Given the description of an element on the screen output the (x, y) to click on. 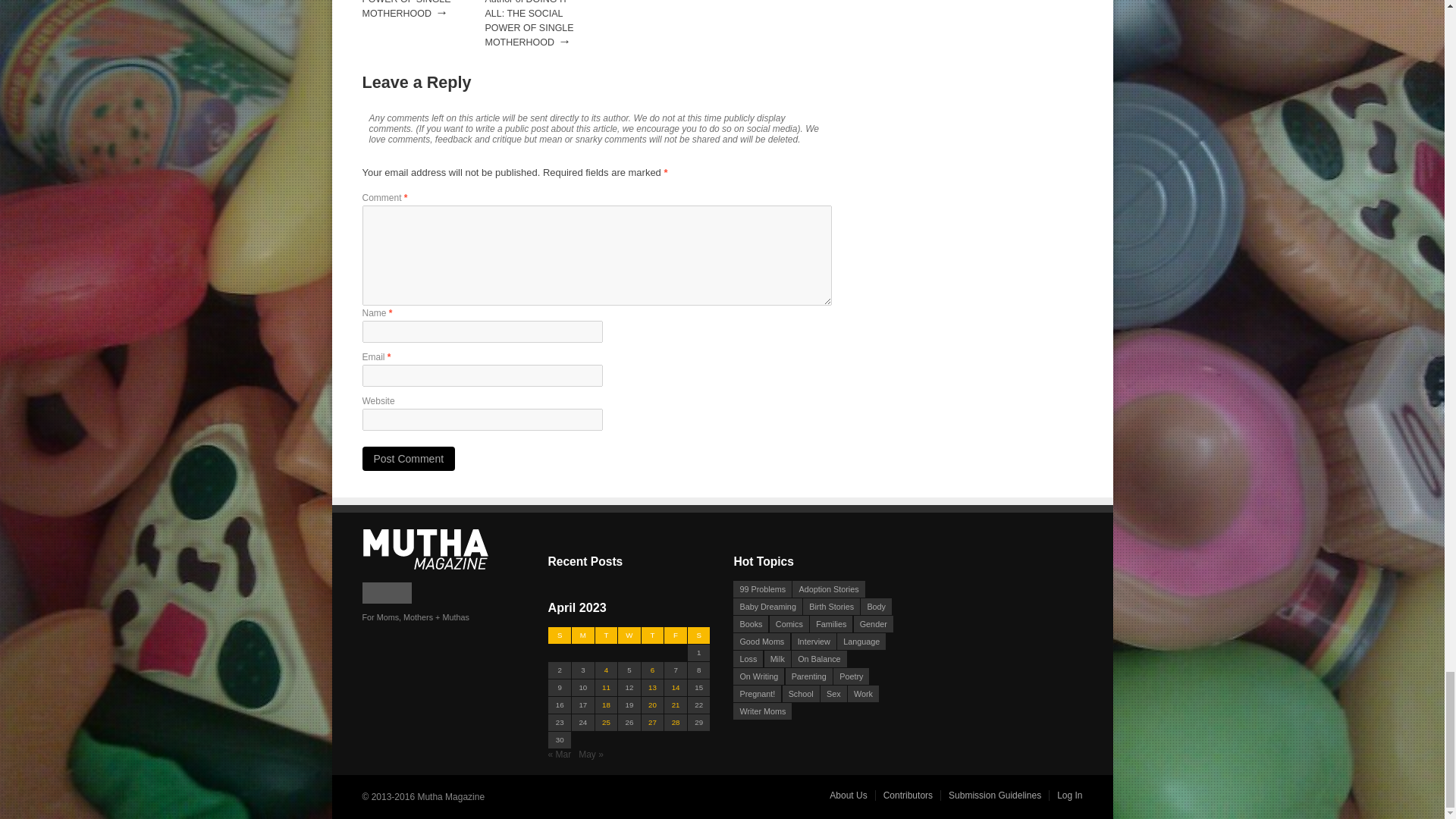
Friday (675, 634)
Tuesday (605, 634)
Wednesday (629, 634)
Post Comment (408, 458)
Saturday (698, 634)
Sunday (560, 634)
Thursday (651, 634)
Monday (583, 634)
